Given the description of an element on the screen output the (x, y) to click on. 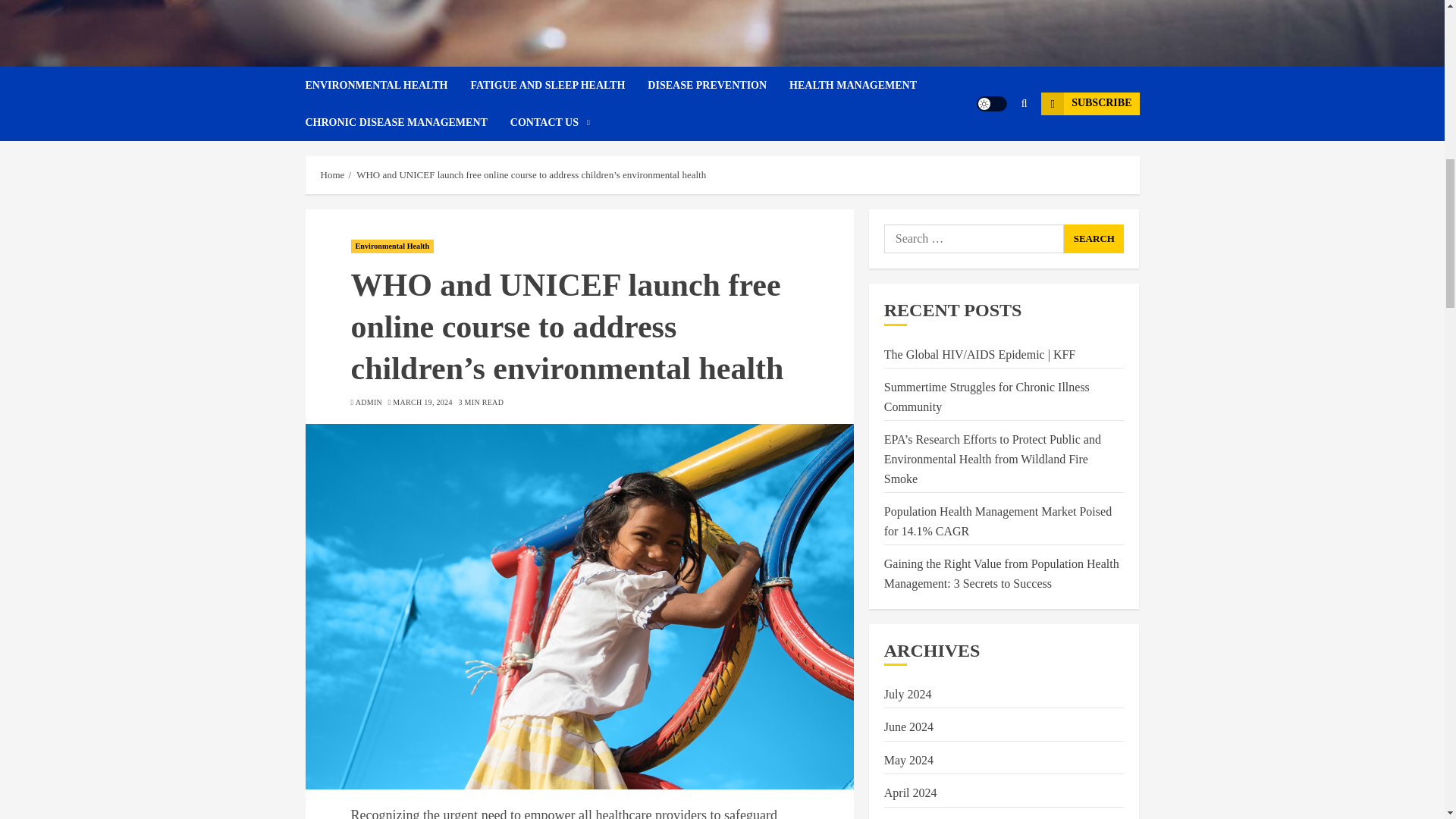
FATIGUE AND SLEEP HEALTH (558, 85)
HEALTH MANAGEMENT (864, 85)
ADMIN (368, 402)
Search (994, 149)
Environmental Health (391, 246)
CONTACT US (550, 122)
Home (331, 174)
ENVIRONMENTAL HEALTH (387, 85)
CHRONIC DISEASE MANAGEMENT (406, 122)
SUBSCRIBE (1089, 103)
MARCH 19, 2024 (422, 402)
Search (1094, 238)
Search (1094, 238)
DISEASE PREVENTION (718, 85)
